Given the description of an element on the screen output the (x, y) to click on. 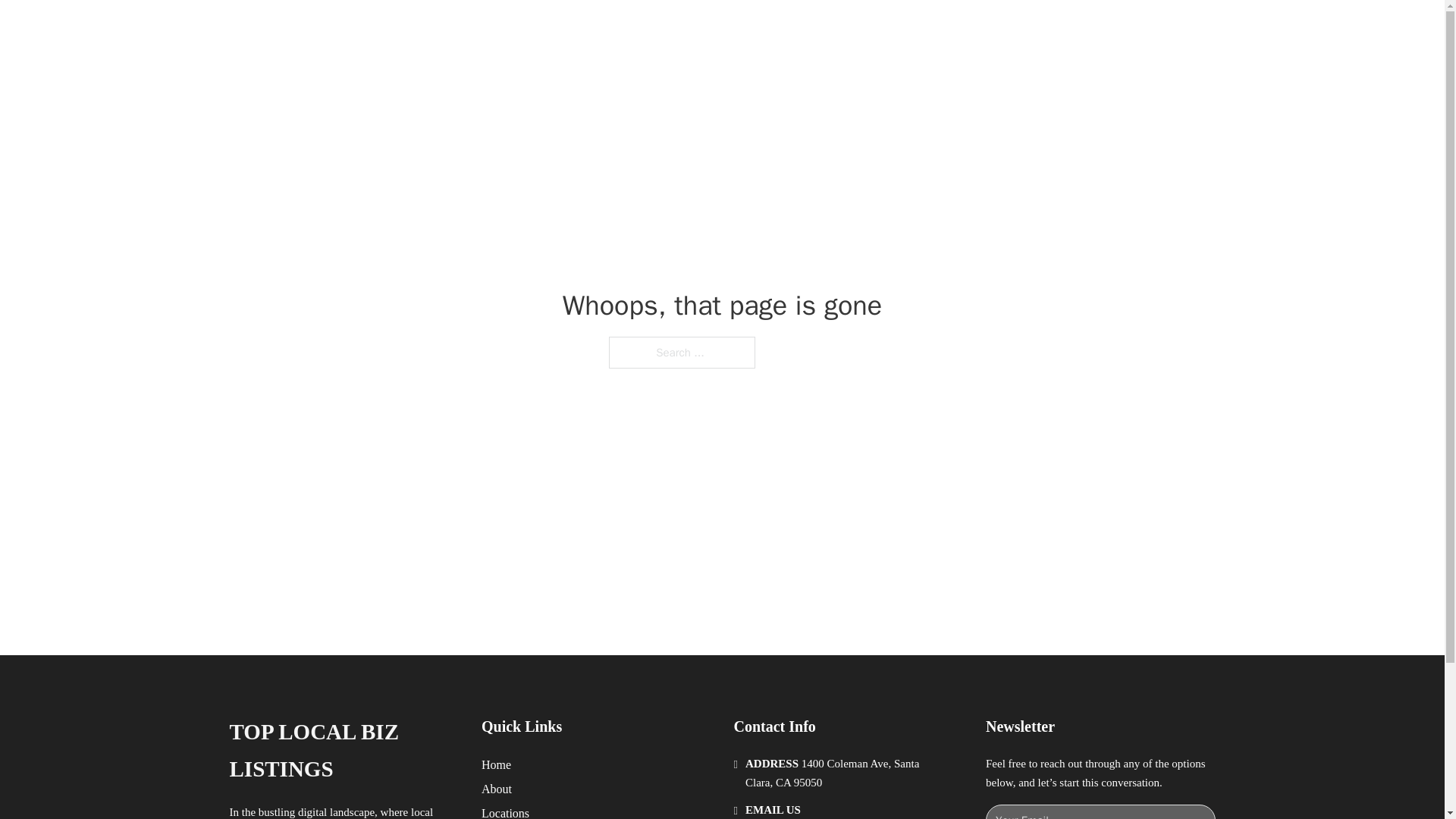
TOP LOCAL BIZ LISTINGS (343, 750)
About (496, 788)
Home (496, 764)
LOCATIONS (990, 29)
TOP LOCAL BIZ LISTINGS (432, 28)
Locations (505, 811)
HOME (919, 29)
